Given the description of an element on the screen output the (x, y) to click on. 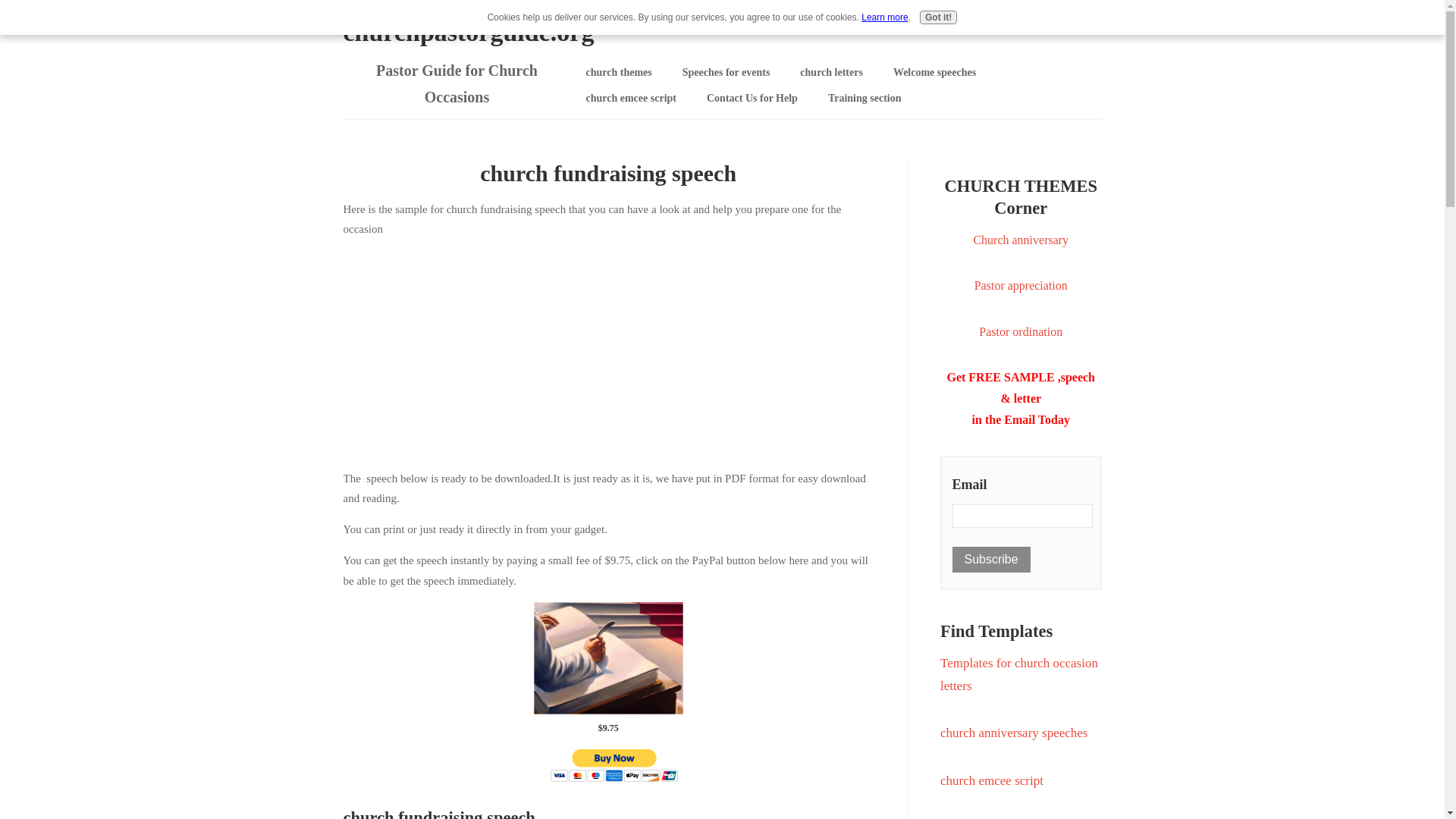
Contact Us for Help (751, 98)
Welcome speeches (934, 72)
Speeches for events (726, 72)
churchpastorguide.org (468, 31)
Subscribe (991, 559)
church emcee script (991, 780)
Training section (864, 98)
Advertisement (607, 350)
Templates for church occasion letters (1018, 674)
Pastor appreciation (1020, 285)
